Given the description of an element on the screen output the (x, y) to click on. 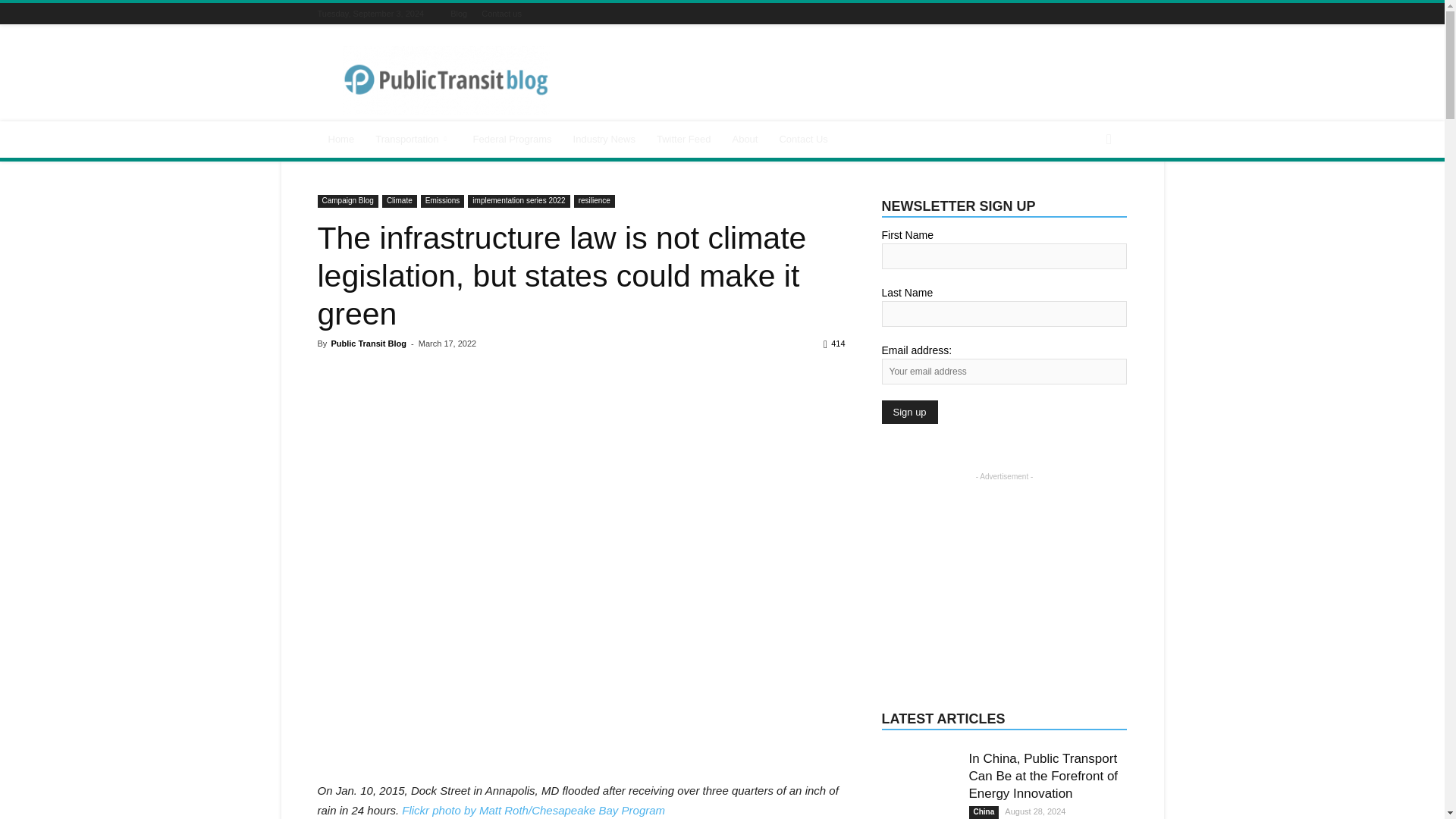
Industry News (604, 139)
Federal Programs (512, 139)
Sign up (908, 412)
Home (341, 139)
Contact Us (803, 139)
Twitter Feed (684, 139)
Advertisement (850, 79)
Contact us (501, 13)
About (744, 139)
Transportation (413, 139)
